Given the description of an element on the screen output the (x, y) to click on. 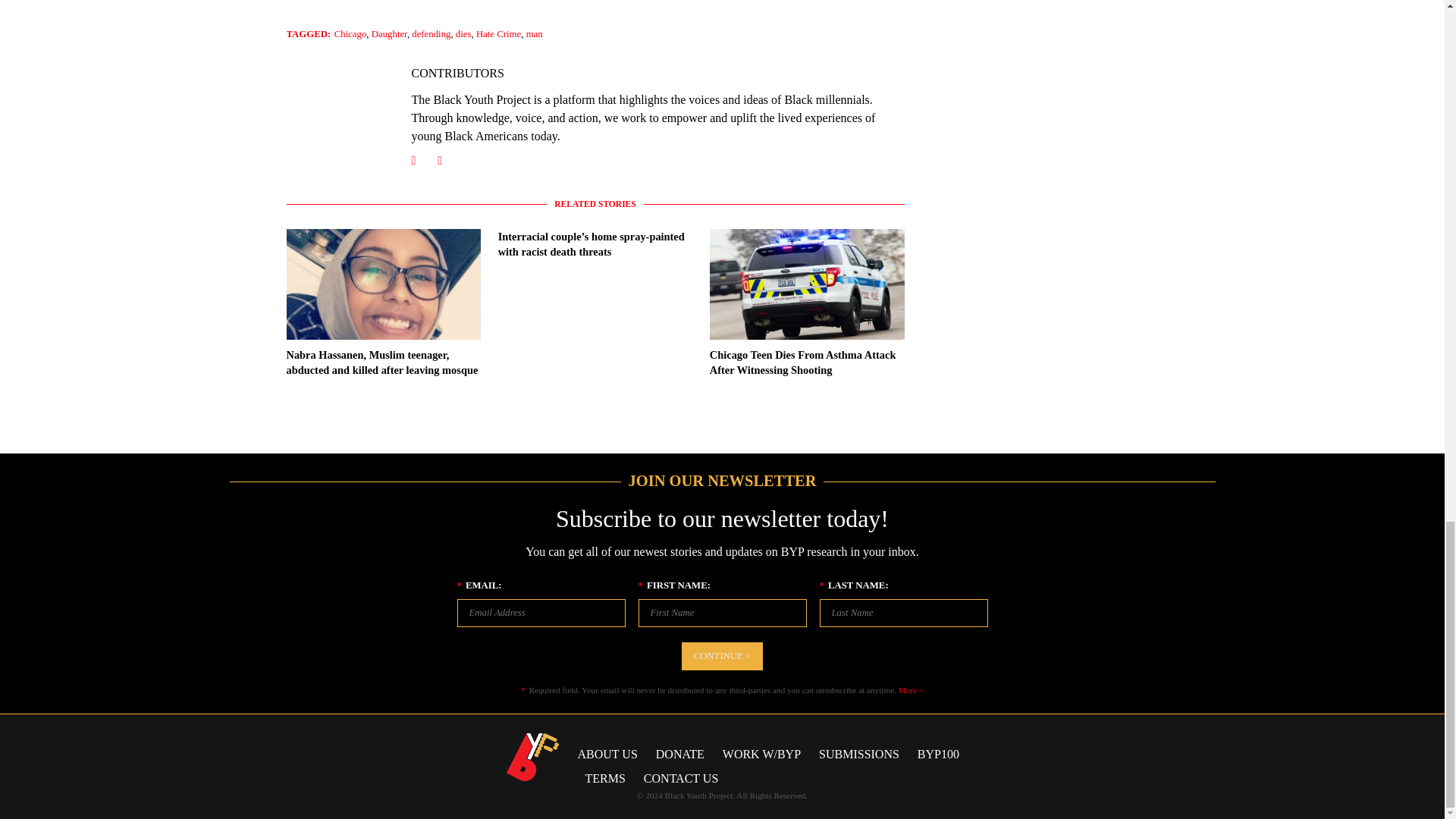
Chicago (350, 33)
Posts by Contributors (456, 72)
defending (430, 33)
man (534, 33)
Hate Crime (498, 33)
dies (463, 33)
CONTRIBUTORS (456, 72)
Daughter (389, 33)
